Given the description of an element on the screen output the (x, y) to click on. 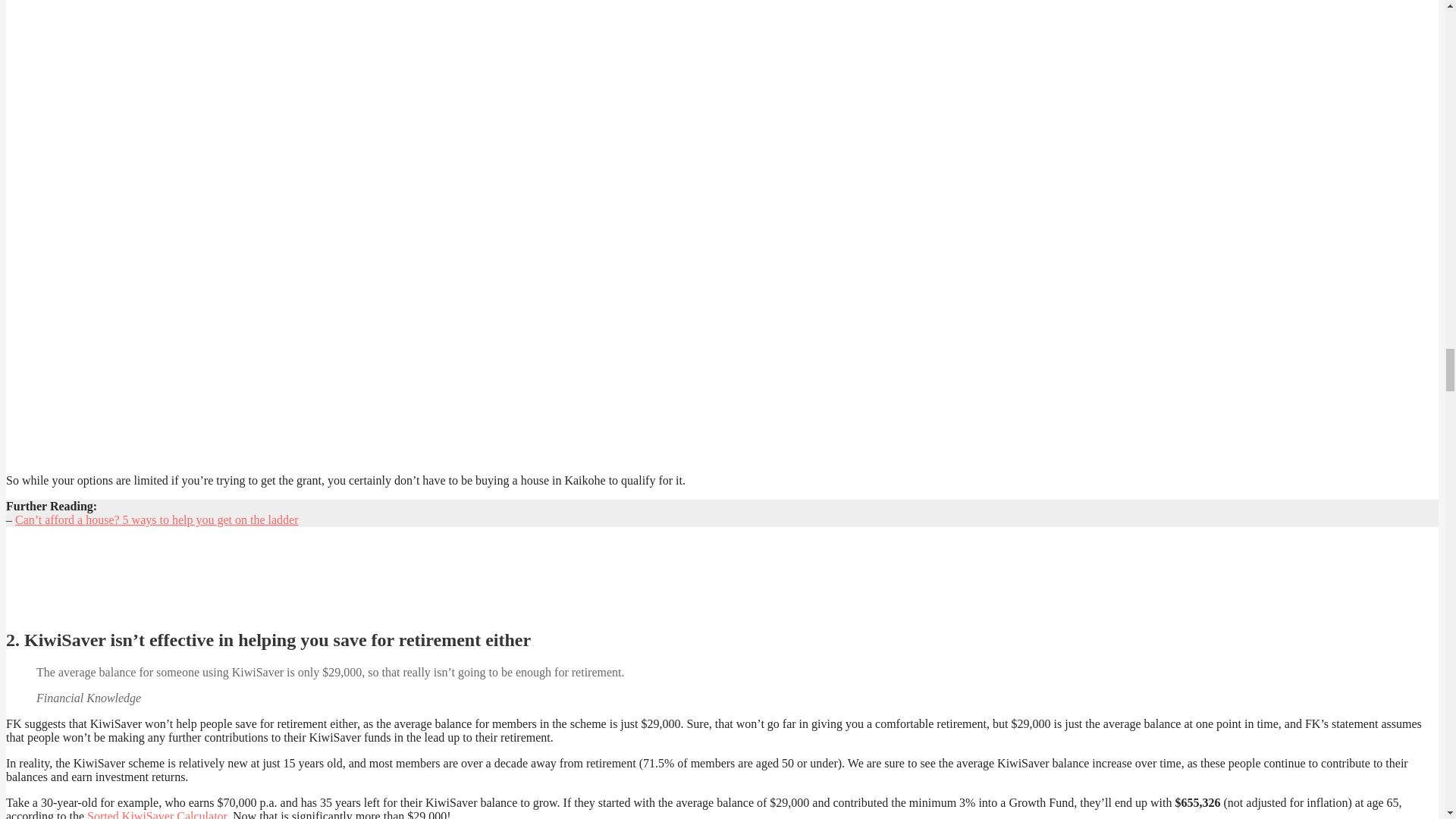
Sorted KiwiSaver Calculator (157, 814)
